Given the description of an element on the screen output the (x, y) to click on. 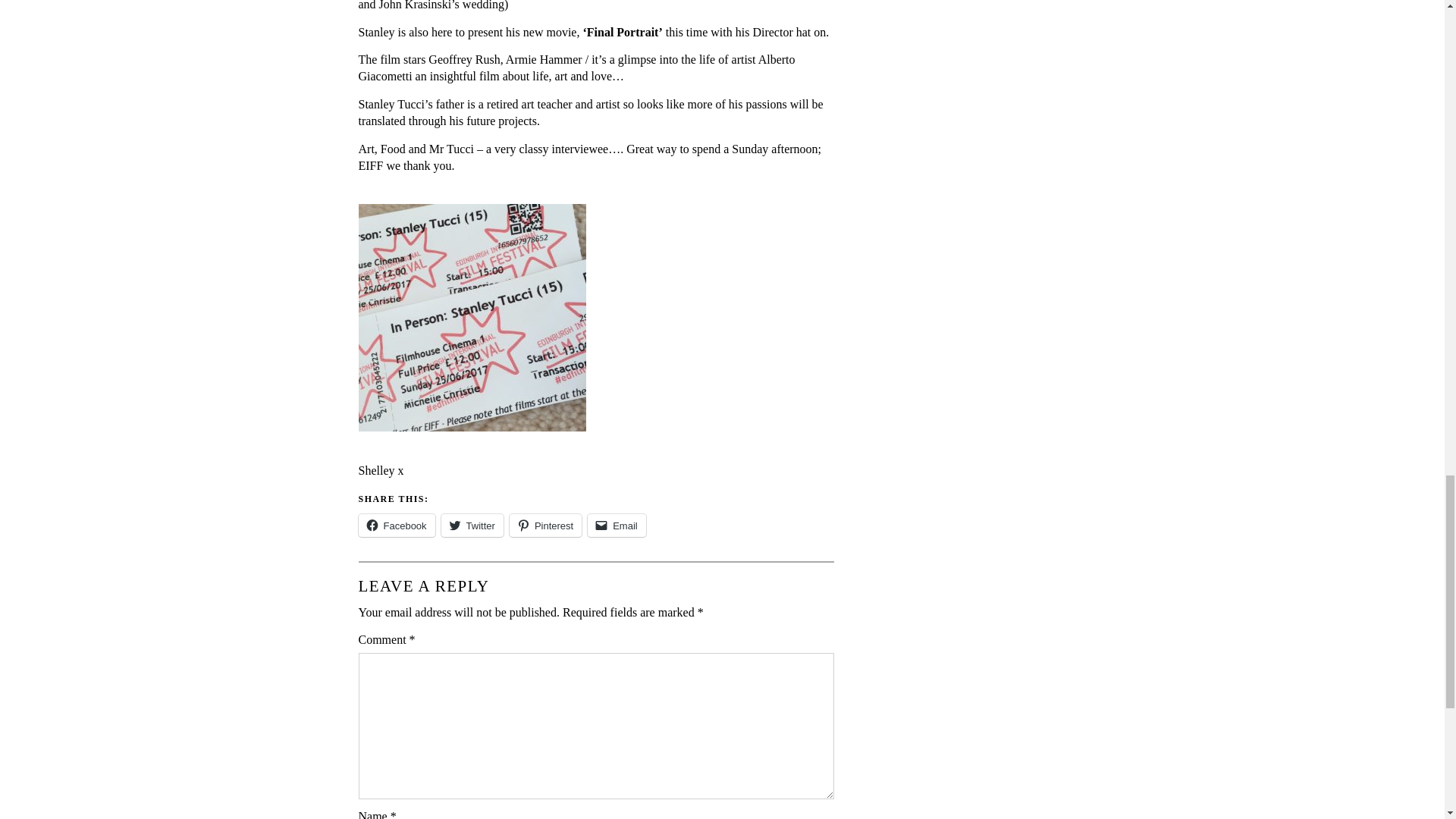
Click to share on Facebook (395, 525)
Email (617, 525)
Click to share on Pinterest (544, 525)
Pinterest (544, 525)
Click to email a link to a friend (617, 525)
Twitter (472, 525)
Click to share on Twitter (472, 525)
Facebook (395, 525)
